Given the description of an element on the screen output the (x, y) to click on. 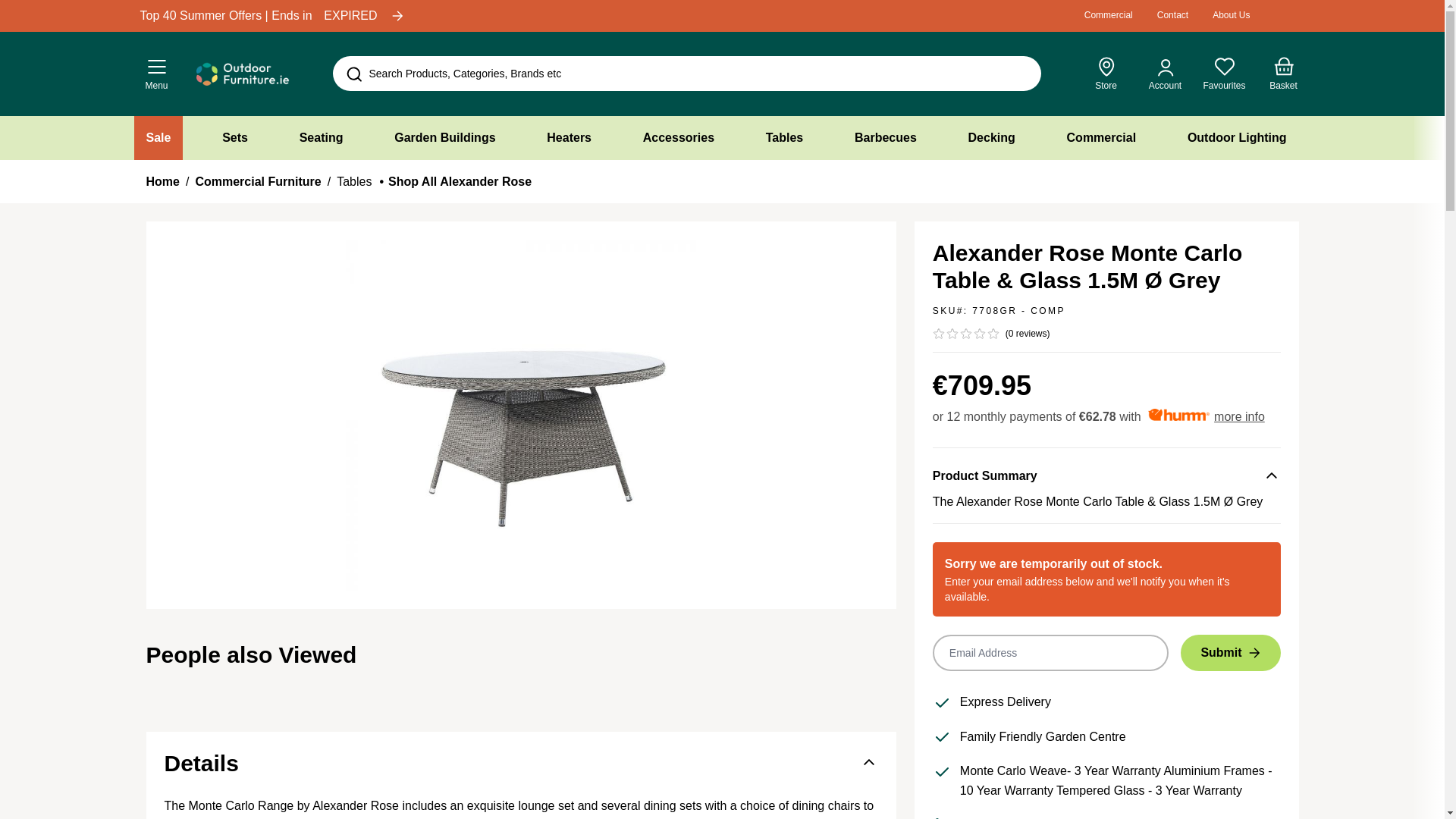
Menu (156, 73)
Favourites (1223, 73)
Favourites (1223, 73)
Store (1105, 73)
Sale (157, 137)
Contact (1283, 73)
Go to Home Page (1172, 14)
About Us (162, 181)
Account (1230, 14)
Commercial (1164, 73)
Commercial (1108, 14)
Store (1108, 14)
Contact (1105, 73)
Outdoor Living (1172, 14)
